Given the description of an element on the screen output the (x, y) to click on. 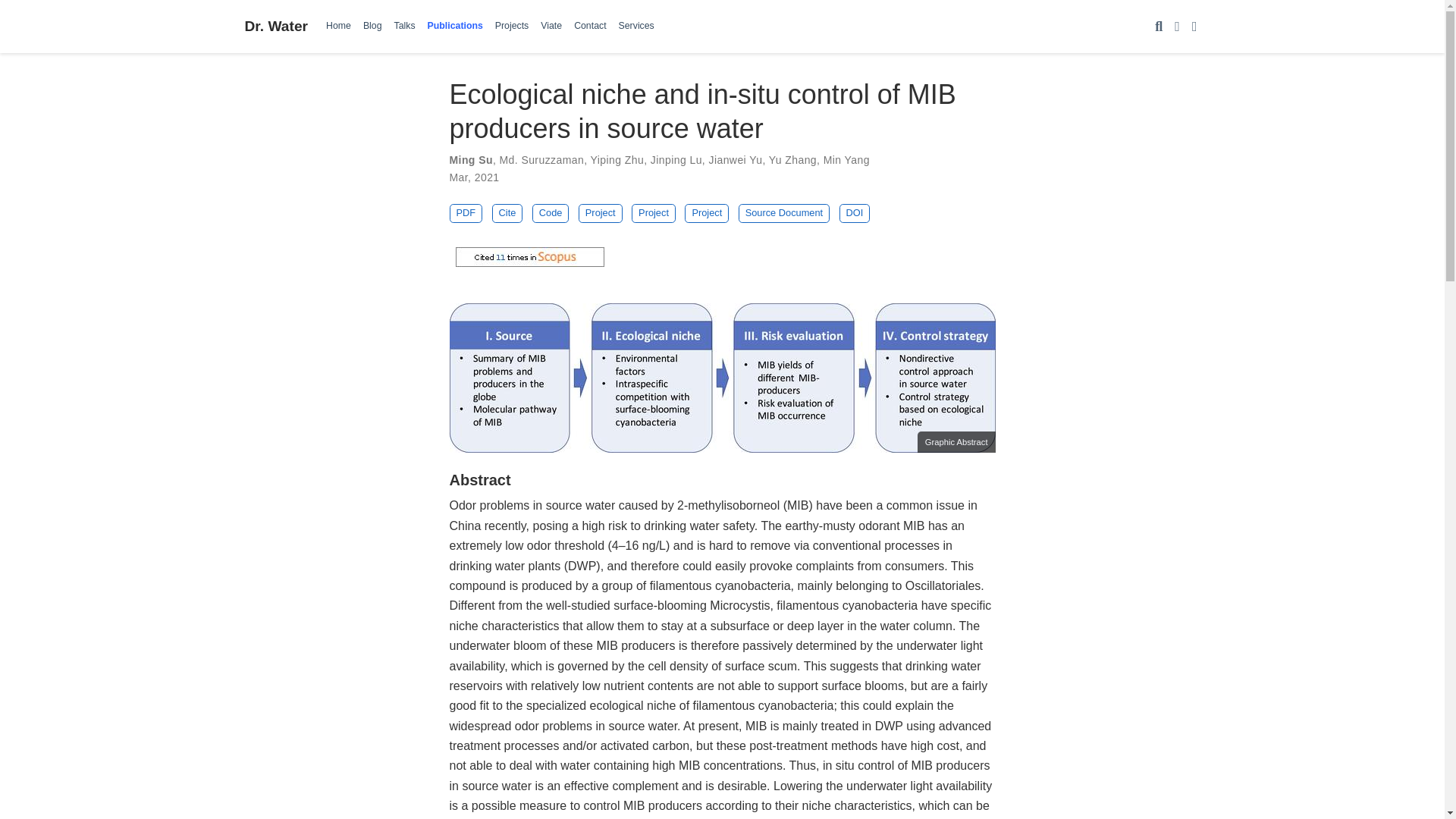
Home (338, 25)
Services (636, 25)
Project (653, 212)
Blog (372, 25)
Projects (511, 25)
Ming Su (470, 159)
Cite (507, 212)
Yu Zhang (792, 159)
Source Document (783, 212)
Viate (550, 25)
Project (706, 212)
Publications (455, 25)
Jianwei Yu (734, 159)
Code (550, 212)
Dr. Water (275, 26)
